Given the description of an element on the screen output the (x, y) to click on. 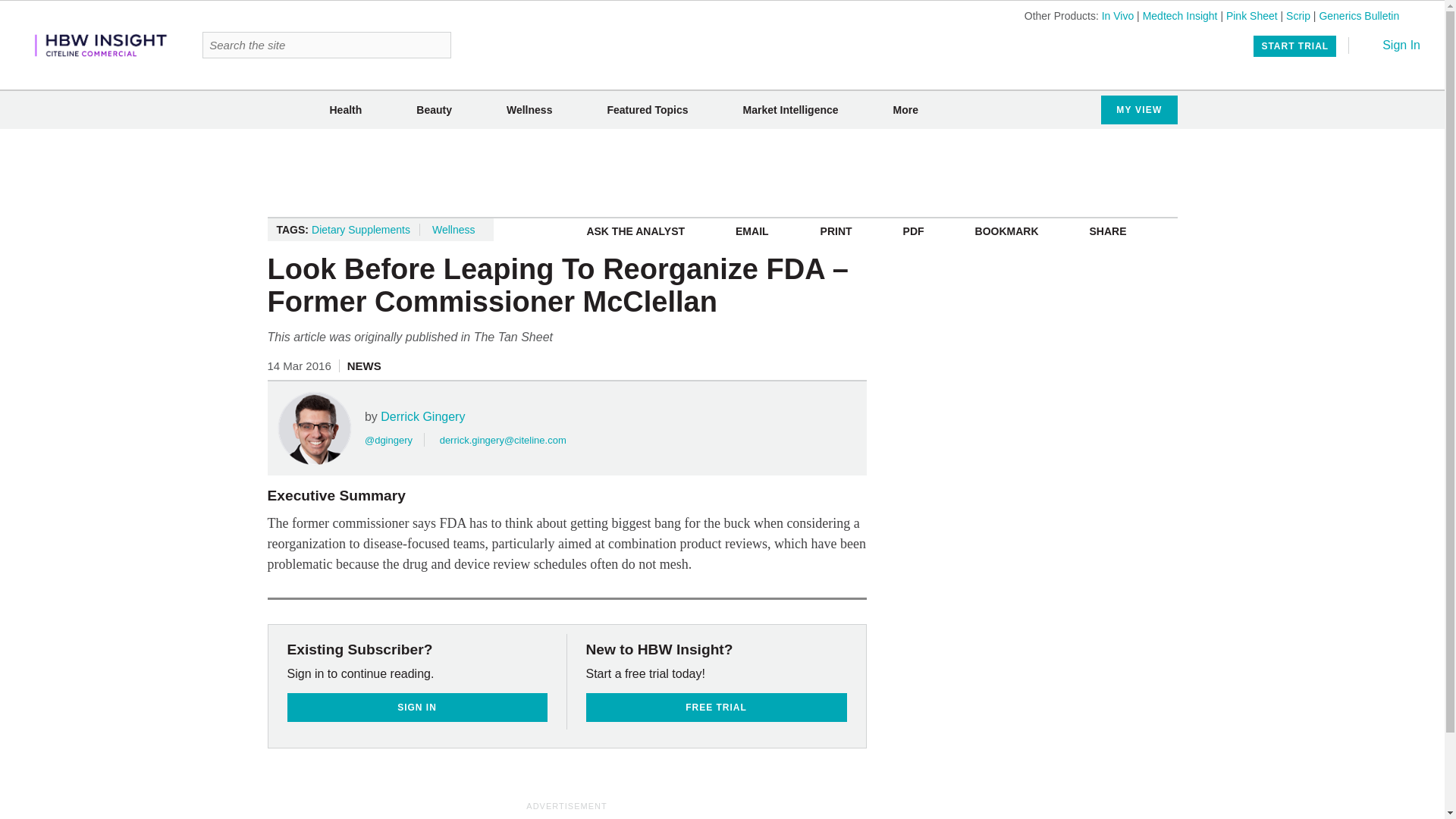
Market Intelligence (790, 110)
In Vivo (1118, 15)
Sign In (1391, 44)
Wellness (528, 110)
Pink Sheet (1251, 15)
Health (345, 110)
3rd party ad content (722, 172)
Generics Bulletin (1359, 15)
Medtech Insight (1179, 15)
